Given the description of an element on the screen output the (x, y) to click on. 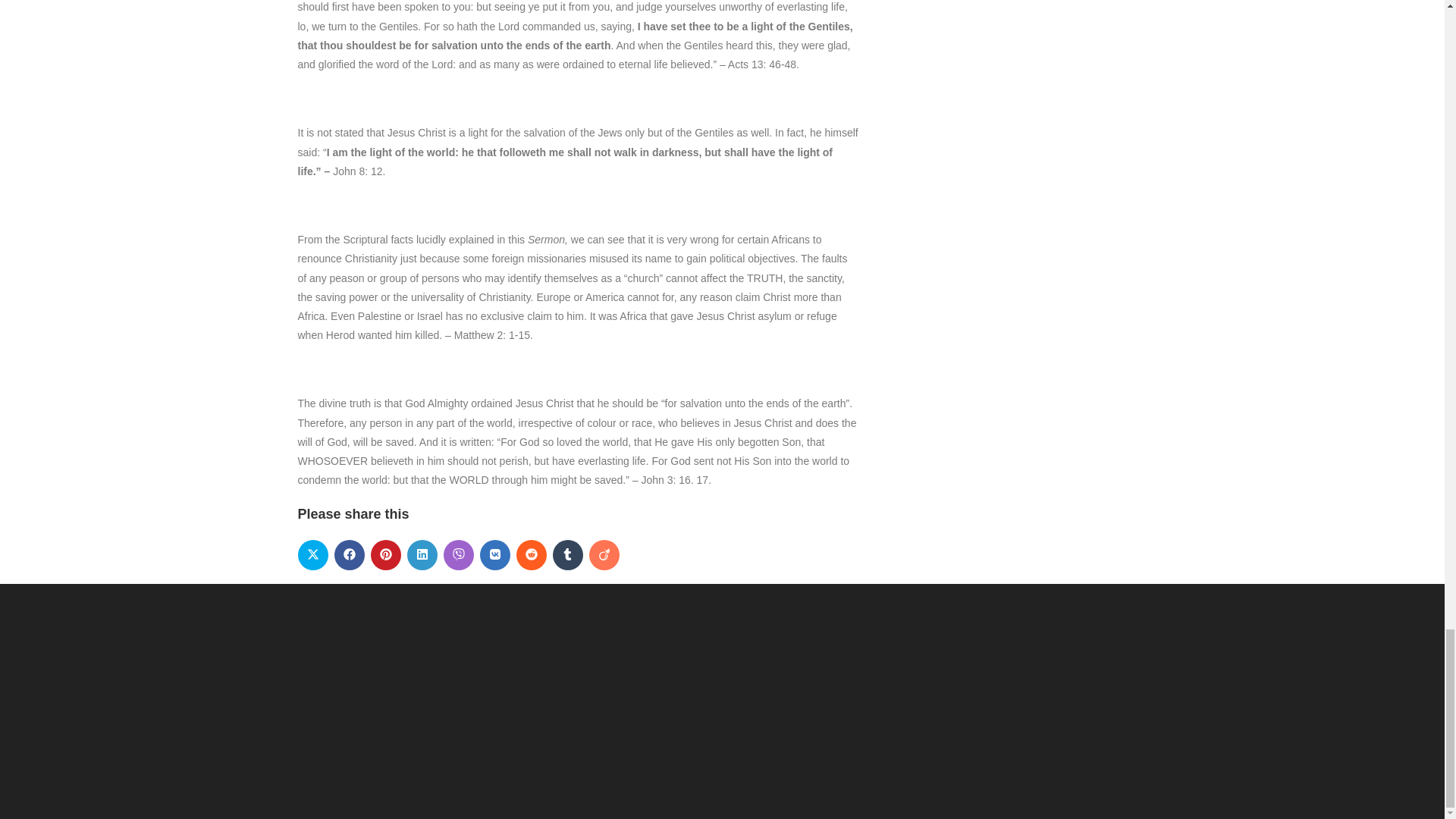
Share on Facebook (348, 554)
Share on Viadeo (603, 554)
Share on LinkedIn (421, 554)
Share on X (312, 554)
Share on Tumblr (566, 554)
Share on Reddit (530, 554)
Share on Pinterest (384, 554)
Share on VK (494, 554)
Share on Viber (457, 554)
